Given the description of an element on the screen output the (x, y) to click on. 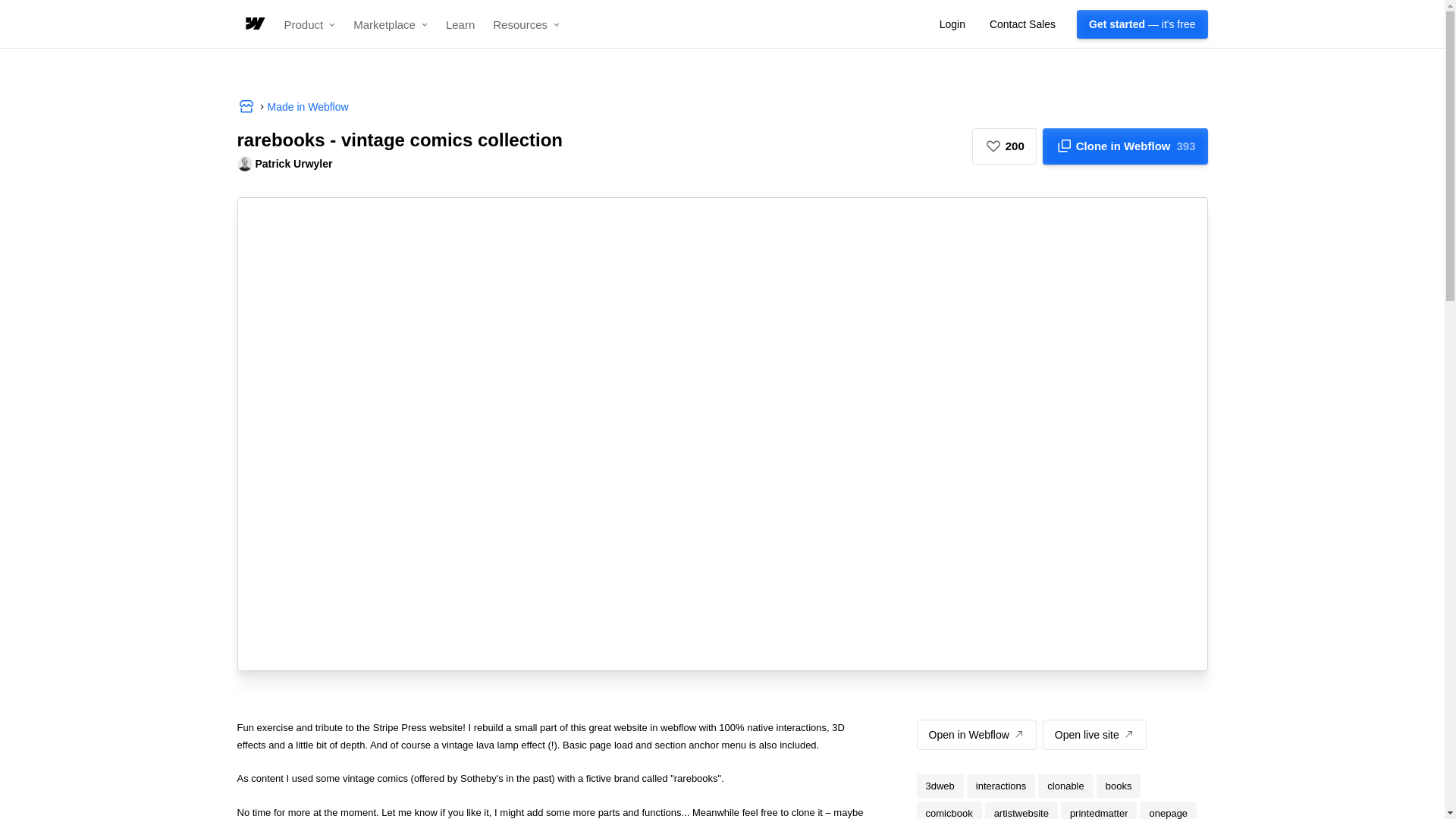
Product (309, 24)
printedmatter (1099, 810)
200 (1004, 145)
artistwebsite (1021, 810)
Open live site (1125, 145)
interactions (1094, 734)
Marketplace (1000, 785)
Resources (389, 24)
Made in Webflow (526, 24)
